Given the description of an element on the screen output the (x, y) to click on. 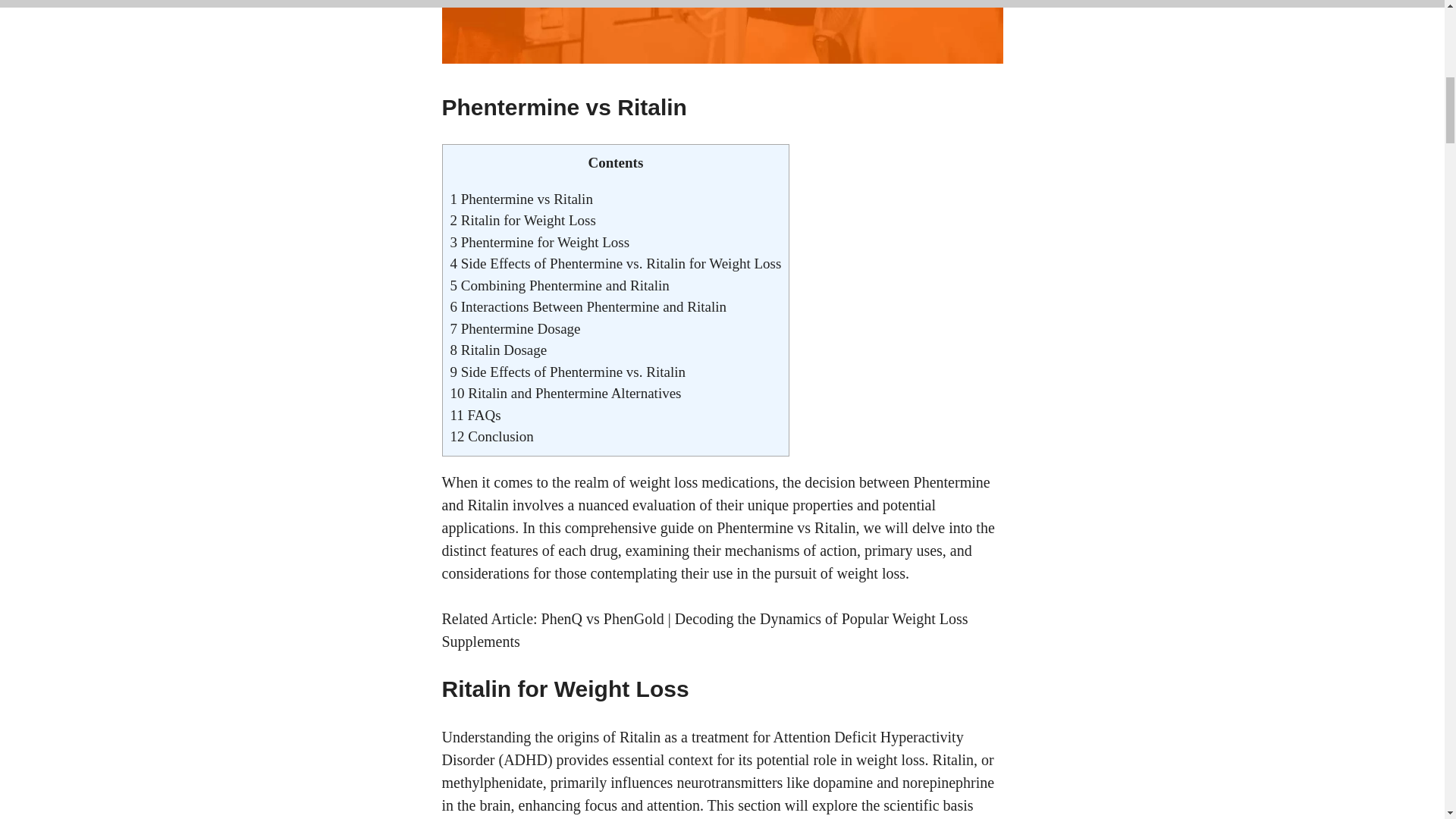
6 Interactions Between Phentermine and Ritalin (587, 306)
12 Conclusion (491, 436)
4 Side Effects of Phentermine vs. Ritalin for Weight Loss (615, 263)
11 FAQs (474, 415)
5 Combining Phentermine and Ritalin (559, 285)
8 Ritalin Dosage (498, 349)
9 Side Effects of Phentermine vs. Ritalin (567, 371)
1 Phentermine vs Ritalin (520, 198)
3 Phentermine for Weight Loss (539, 242)
10 Ritalin and Phentermine Alternatives (565, 392)
7 Phentermine Dosage (514, 328)
2 Ritalin for Weight Loss (522, 220)
